Given the description of an element on the screen output the (x, y) to click on. 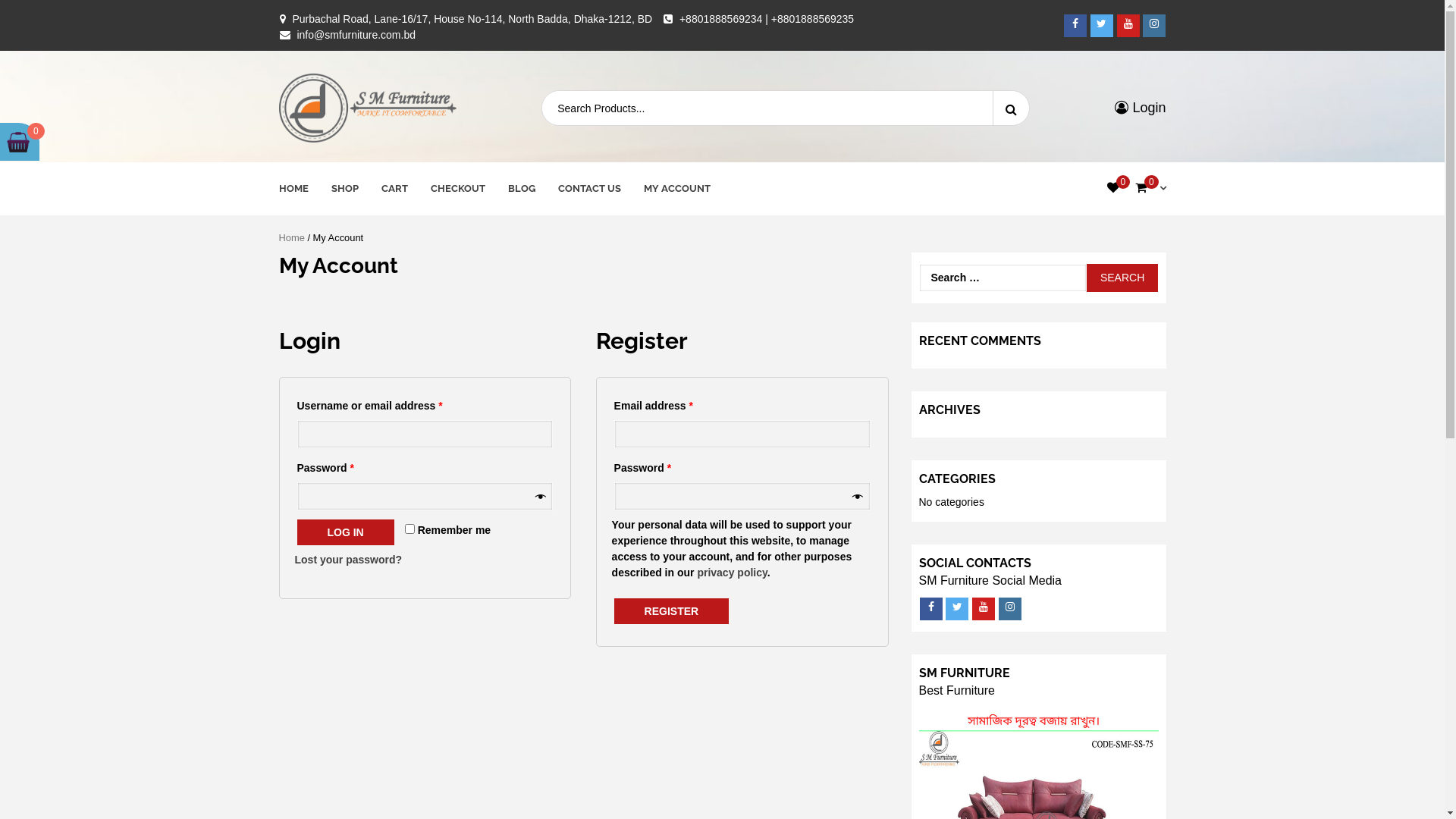
SHOP Element type: text (343, 188)
Youtube Element type: text (983, 608)
Instagram Element type: text (1153, 24)
CART Element type: text (393, 188)
Facebook Element type: text (930, 608)
MY ACCOUNT Element type: text (676, 188)
+8801888569234 | +8801888569235 Element type: text (766, 18)
Instagram Element type: text (1009, 608)
Twitter Element type: text (956, 608)
Facebook Element type: text (1074, 24)
privacy policy Element type: text (731, 572)
Youtube Element type: text (1128, 24)
CHECKOUT Element type: text (457, 188)
HOME Element type: text (293, 188)
Home Element type: text (291, 237)
Login Element type: text (1139, 107)
Lost your password? Element type: text (347, 559)
LOG IN Element type: text (345, 532)
info@smfurniture.com.bd Element type: text (355, 34)
SM Furniture || Best Furniture Brand In Bangladesh Element type: text (362, 205)
REGISTER Element type: text (671, 611)
0 Element type: text (1113, 187)
Twitter Element type: text (1101, 24)
WooCommerce Floating Cart Element type: hover (18, 141)
BLOG Element type: text (521, 188)
Search Element type: text (1122, 277)
CONTACT US Element type: text (589, 188)
